Given the description of an element on the screen output the (x, y) to click on. 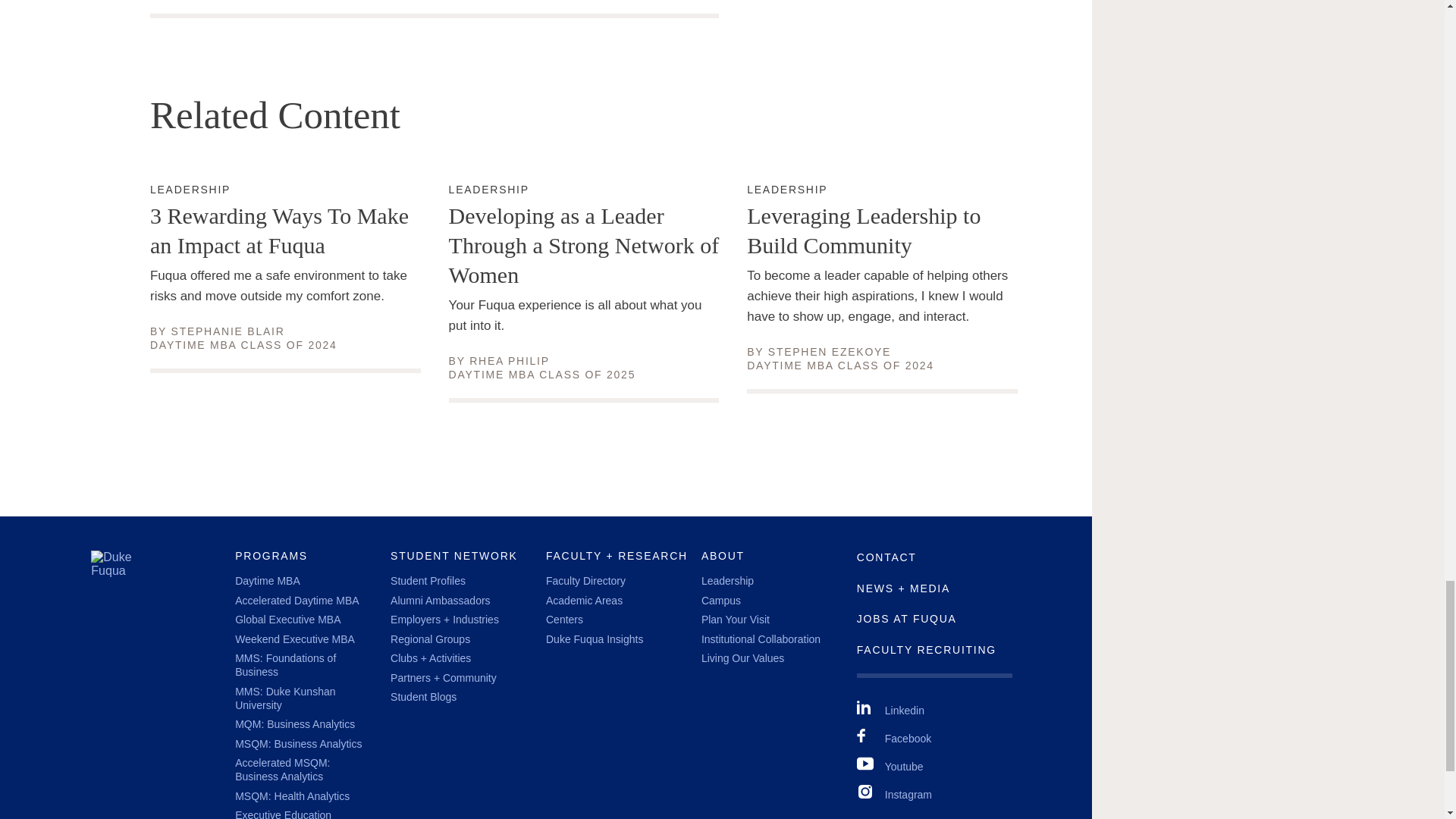
Weekend Executive MBA (228, 331)
Executive Education (294, 639)
MQM: Business Analytics (282, 814)
Daytime MBA (294, 724)
Alumni Ambassadors (189, 189)
MMS: Foundations of Business (266, 580)
Leveraging Leadership to Build Community (440, 600)
